Given the description of an element on the screen output the (x, y) to click on. 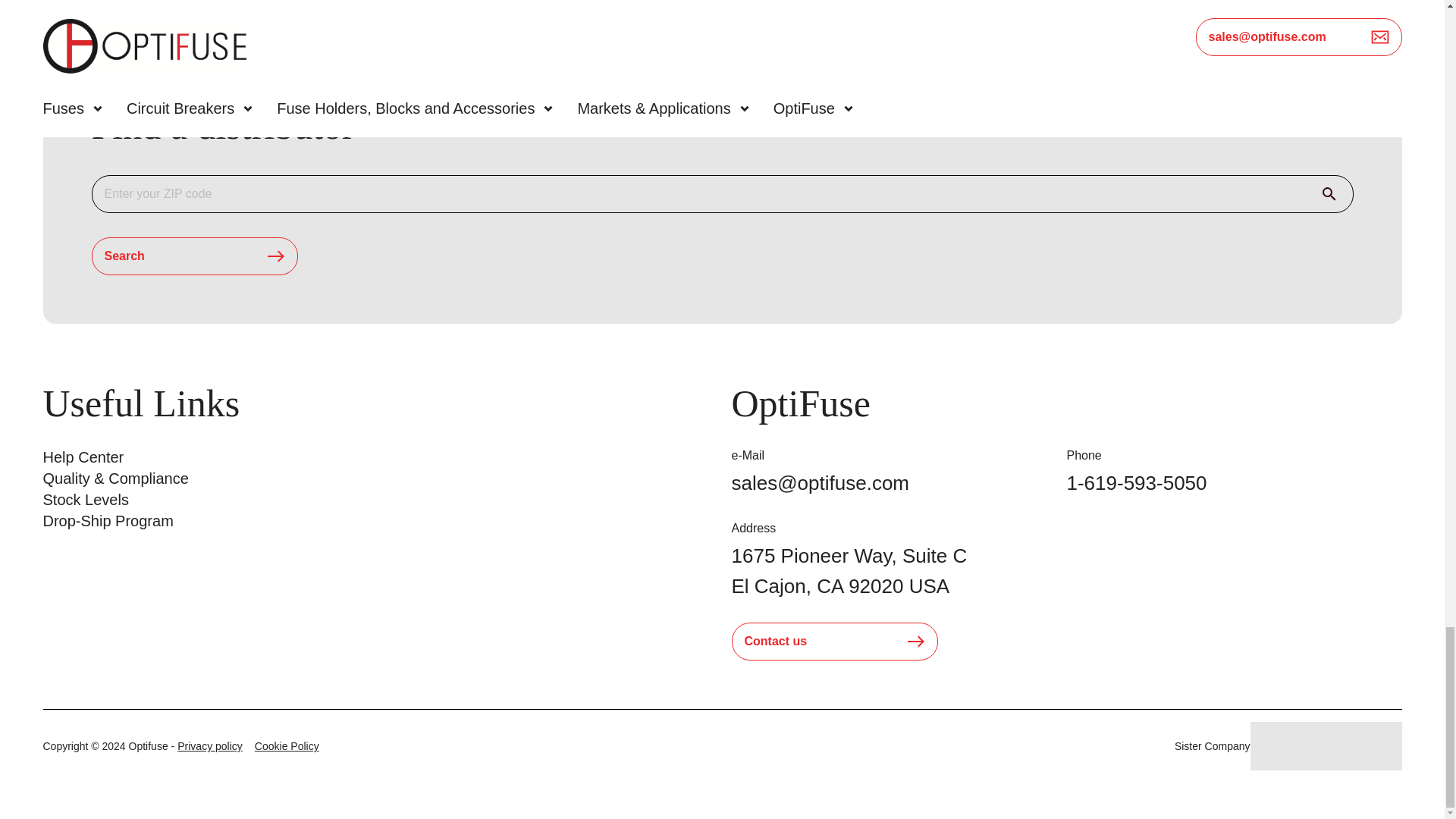
SwitchComp link (1324, 745)
